Given the description of an element on the screen output the (x, y) to click on. 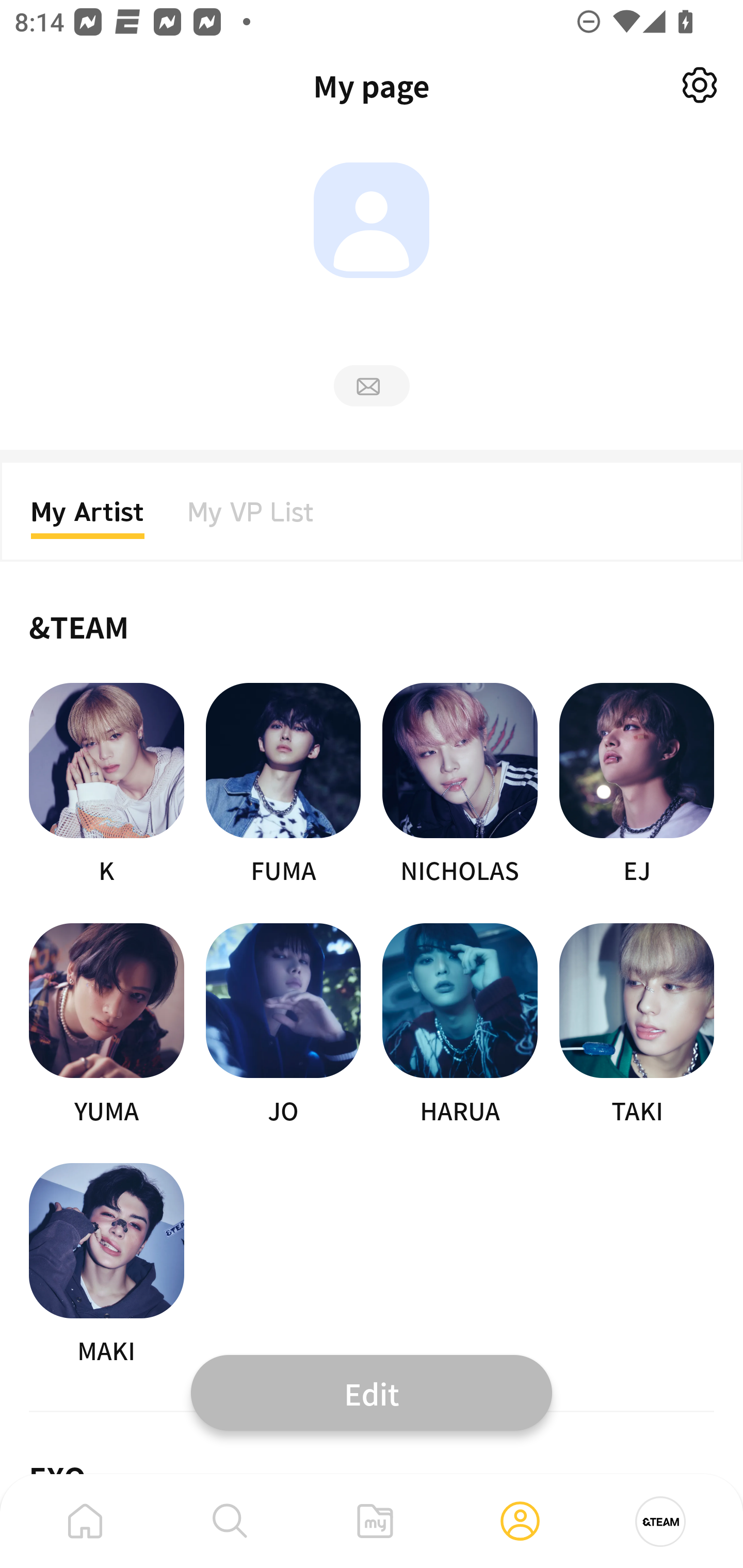
My Artist (87, 517)
My VP List (250, 517)
K (106, 785)
FUMA (282, 785)
NICHOLAS (459, 785)
EJ (636, 785)
YUMA (106, 1025)
JO (282, 1025)
HARUA (459, 1025)
TAKI (636, 1025)
MAKI (106, 1265)
Edit (371, 1392)
